Given the description of an element on the screen output the (x, y) to click on. 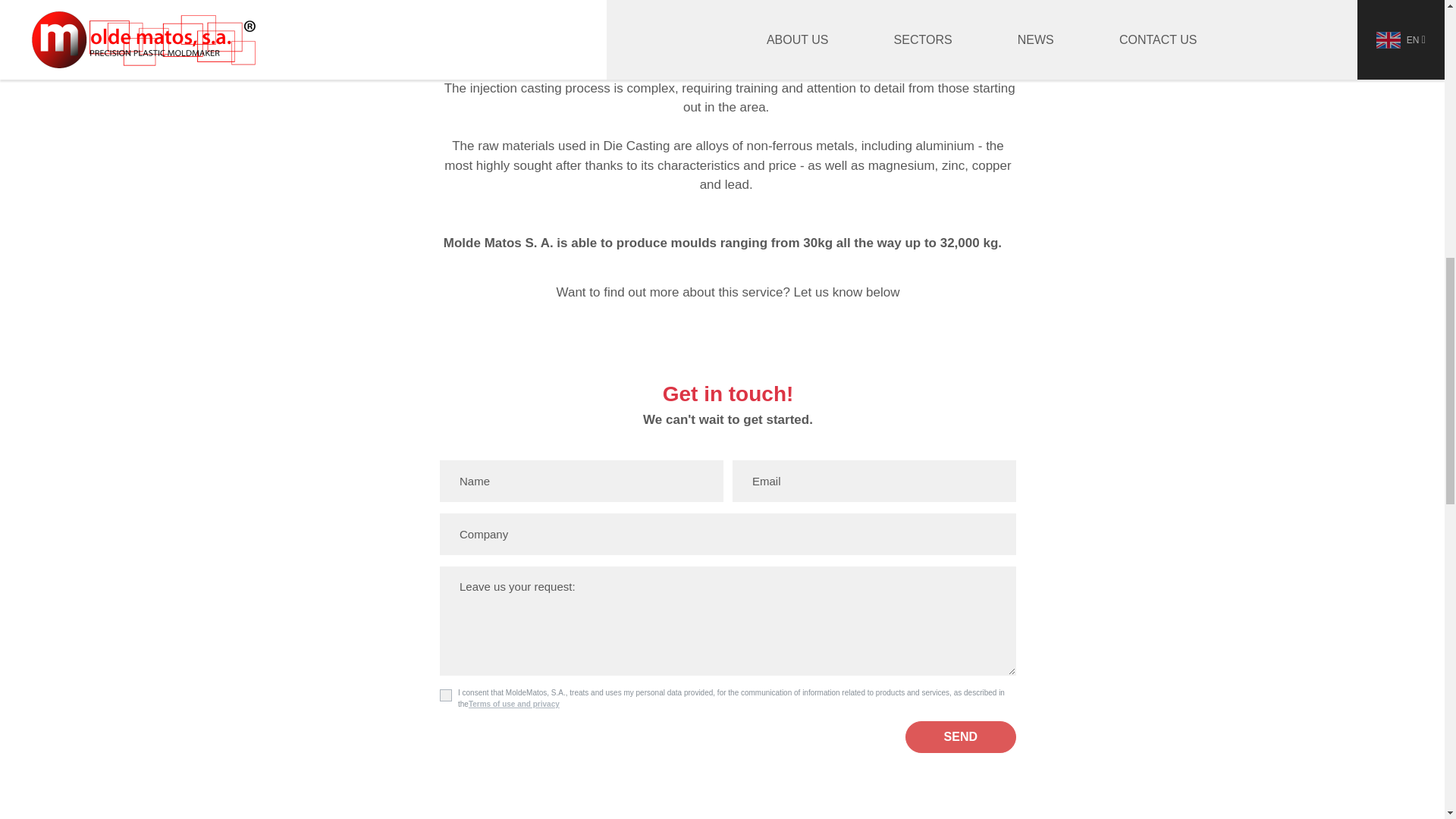
SEND (960, 736)
Terms of use and privacy (513, 704)
